Given the description of an element on the screen output the (x, y) to click on. 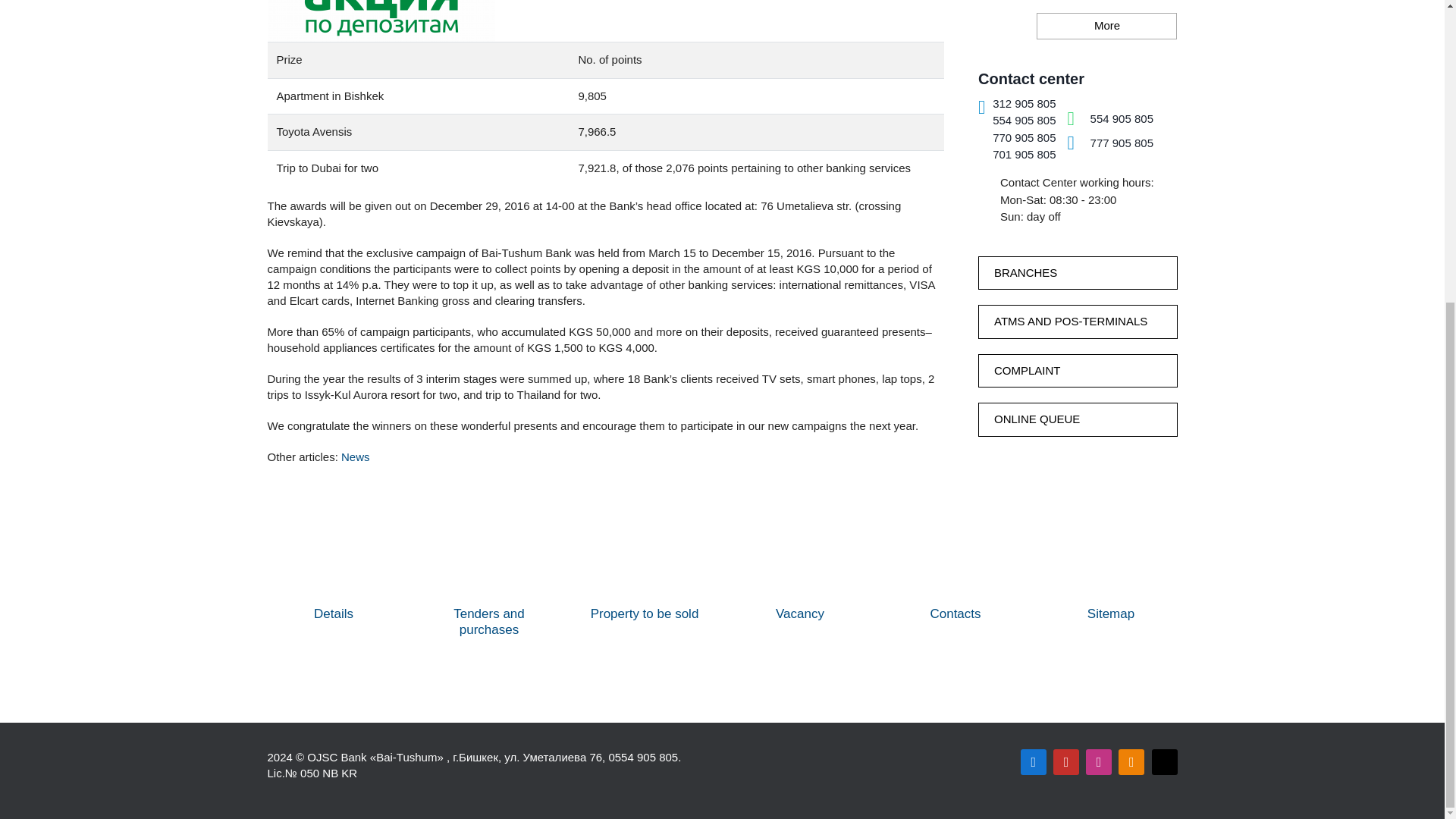
Branches (1077, 273)
Online queue (1077, 419)
ATMs and POS-terminals (1077, 321)
Complaint (1077, 370)
